Given the description of an element on the screen output the (x, y) to click on. 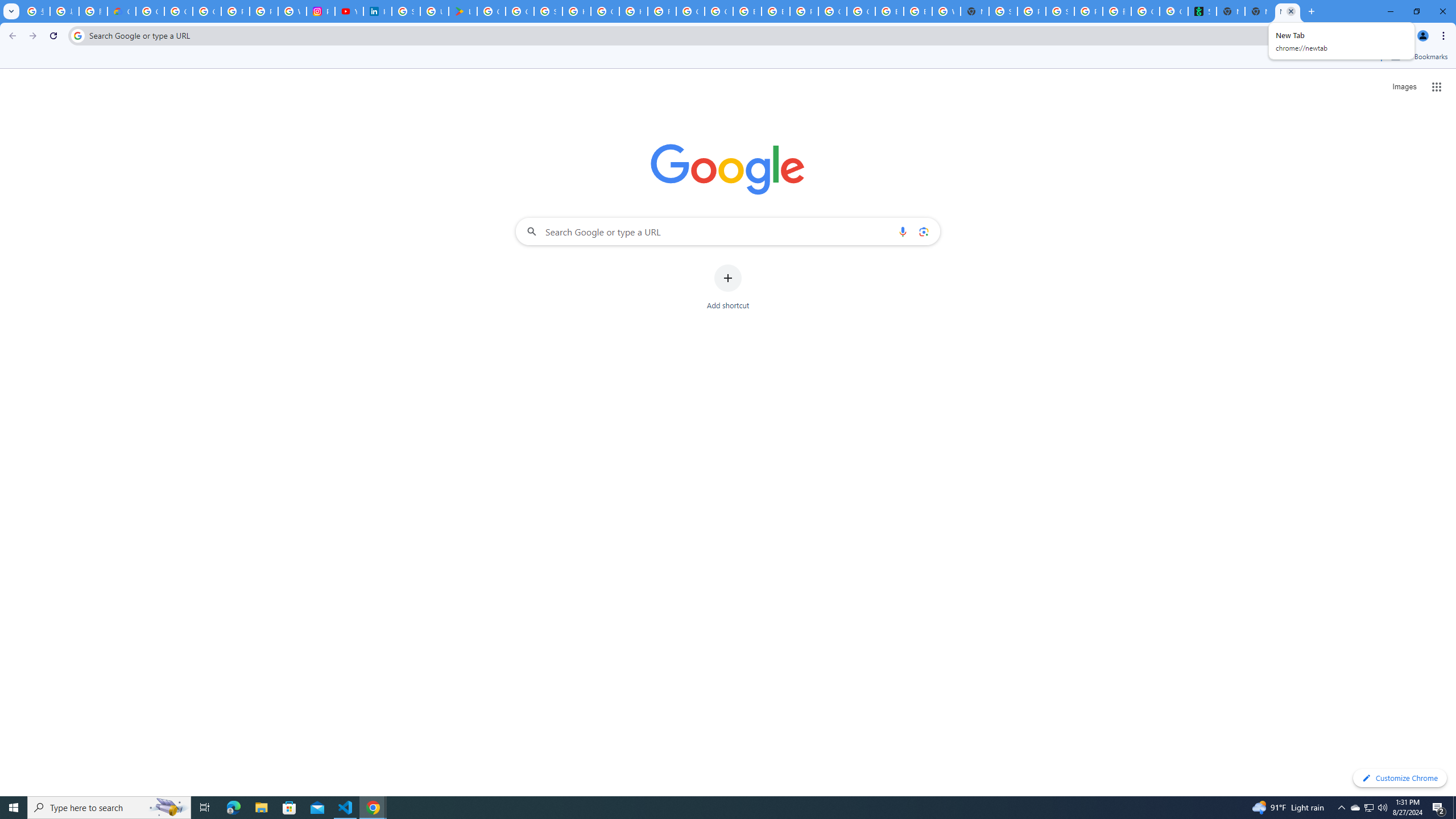
Sign in - Google Accounts (1003, 11)
Privacy Help Center - Policies Help (263, 11)
Reload (52, 35)
You (1422, 35)
Search for Images  (1403, 87)
Sign in - Google Accounts (406, 11)
Address and search bar (735, 35)
Google apps (1436, 86)
Identity verification via Persona | LinkedIn Help (377, 11)
System (6, 6)
Browse Chrome as a guest - Computer - Google Chrome Help (917, 11)
Bookmarks (728, 58)
